Given the description of an element on the screen output the (x, y) to click on. 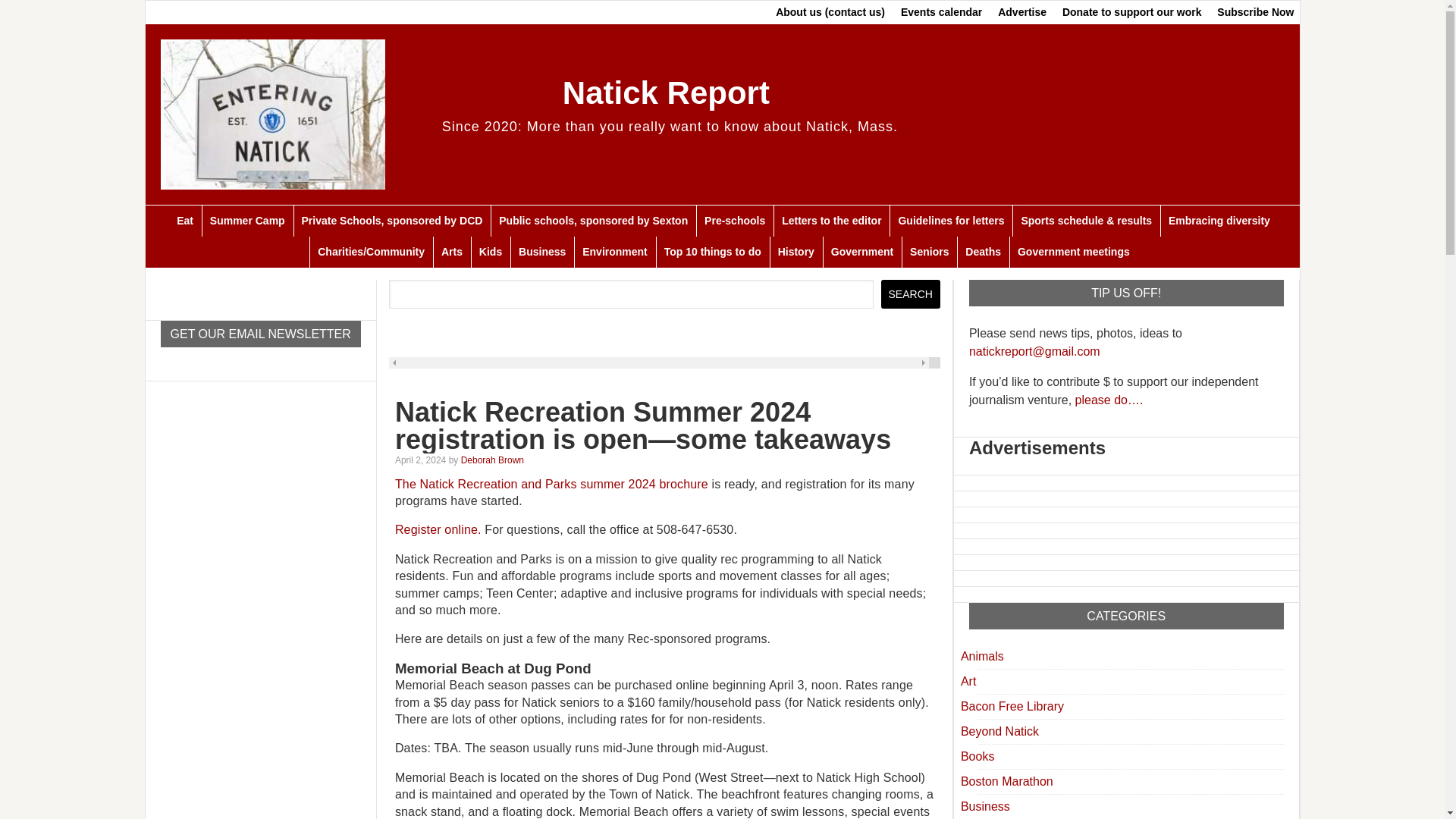
Natick Report (666, 92)
Letters to the editor (830, 220)
Government meetings (1073, 251)
Deborah Brown (492, 460)
Public schools, sponsored by Sexton (592, 220)
Deaths (982, 251)
Arts (451, 251)
Summer Camp (247, 220)
Top 10 things to do (712, 251)
Subscribe Now (1255, 12)
